Given the description of an element on the screen output the (x, y) to click on. 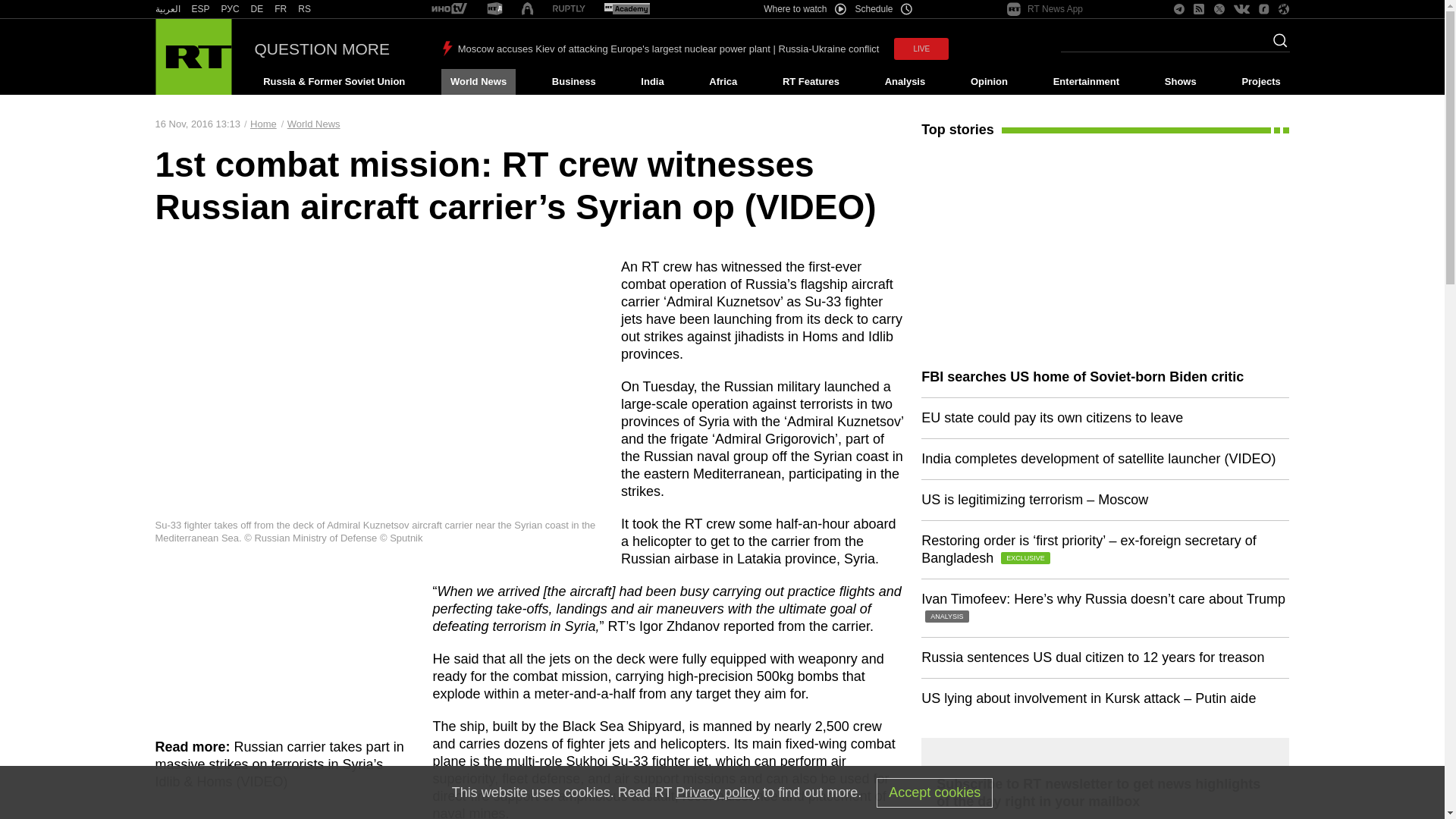
RT  (626, 9)
RT  (448, 9)
Shows (1180, 81)
RS (304, 9)
QUESTION MORE (322, 48)
ESP (199, 9)
RT  (569, 8)
RT Features (810, 81)
World News (478, 81)
Search (1276, 44)
